Given the description of an element on the screen output the (x, y) to click on. 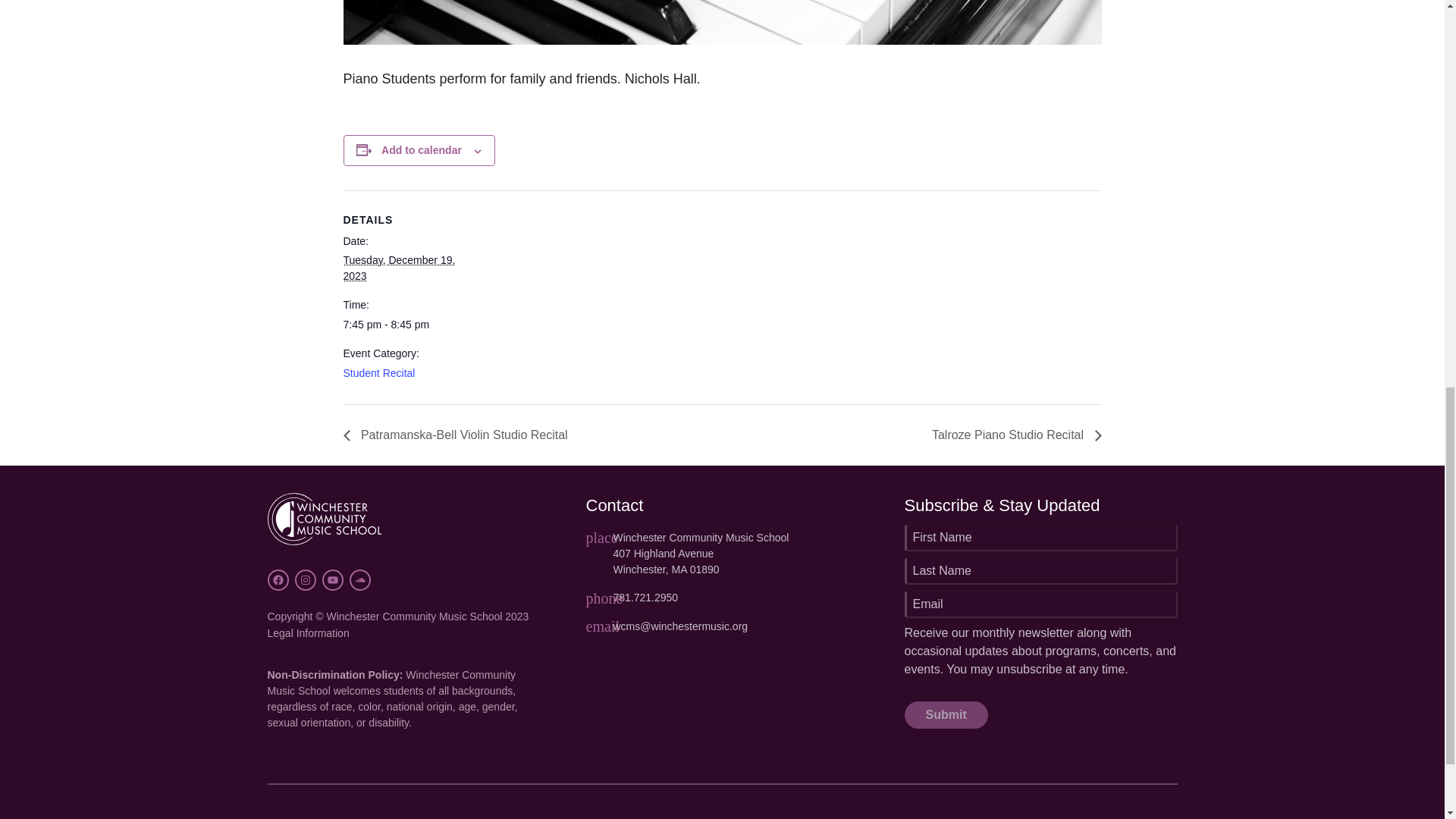
2023-12-19 (406, 324)
2023-12-19 (398, 267)
Submit (945, 714)
